Given the description of an element on the screen output the (x, y) to click on. 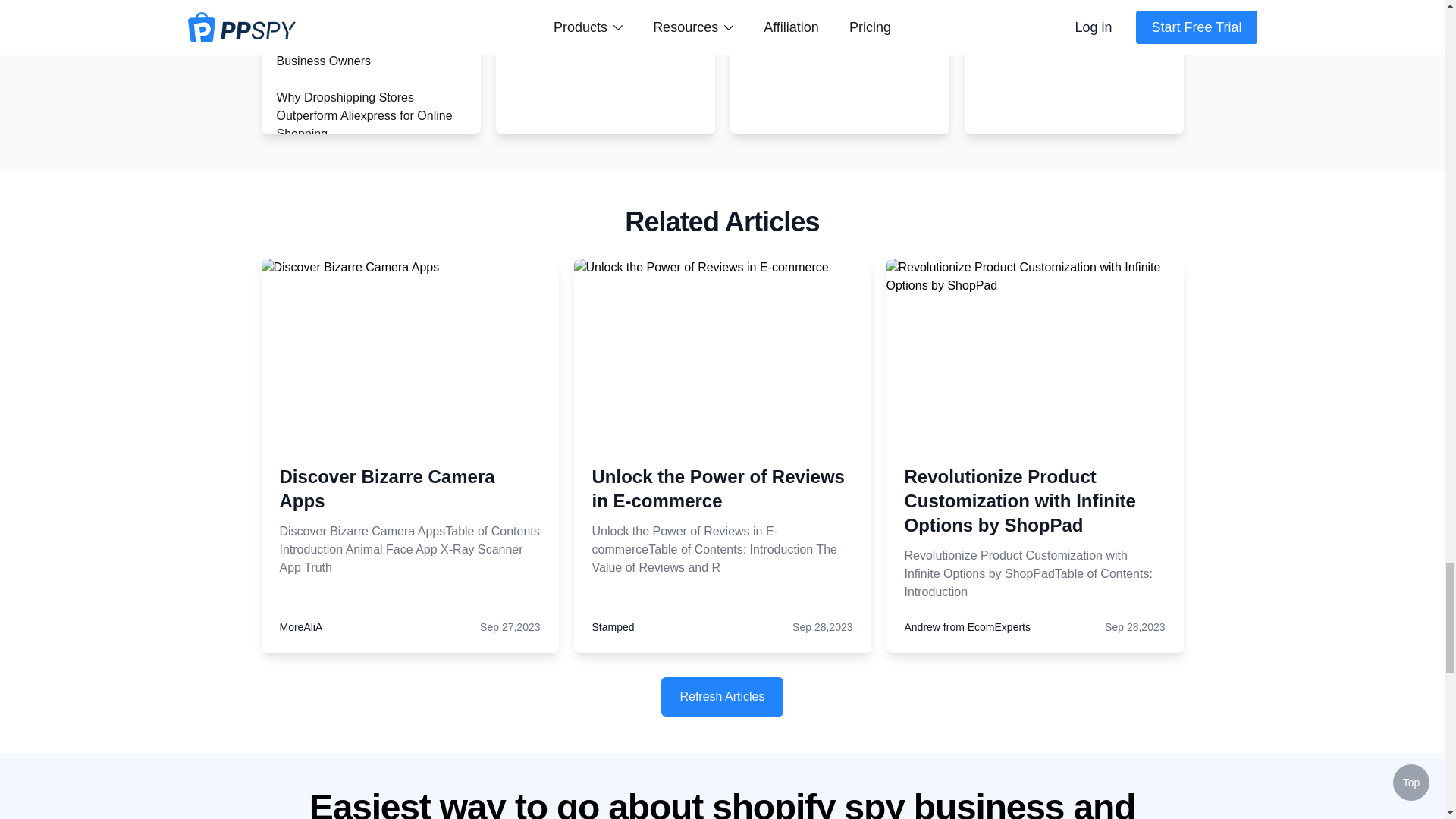
Mastering Taxes for Young Entrepreneurs (347, 6)
Master Drop Shipping with Bigcommons (347, 488)
The Ultimate Guide to Dropshipping with Big Cartel (352, 433)
Mastering Taxes for Online Business Owners (348, 51)
Stamped (612, 626)
Andrew from EcomExperts (967, 626)
